Given the description of an element on the screen output the (x, y) to click on. 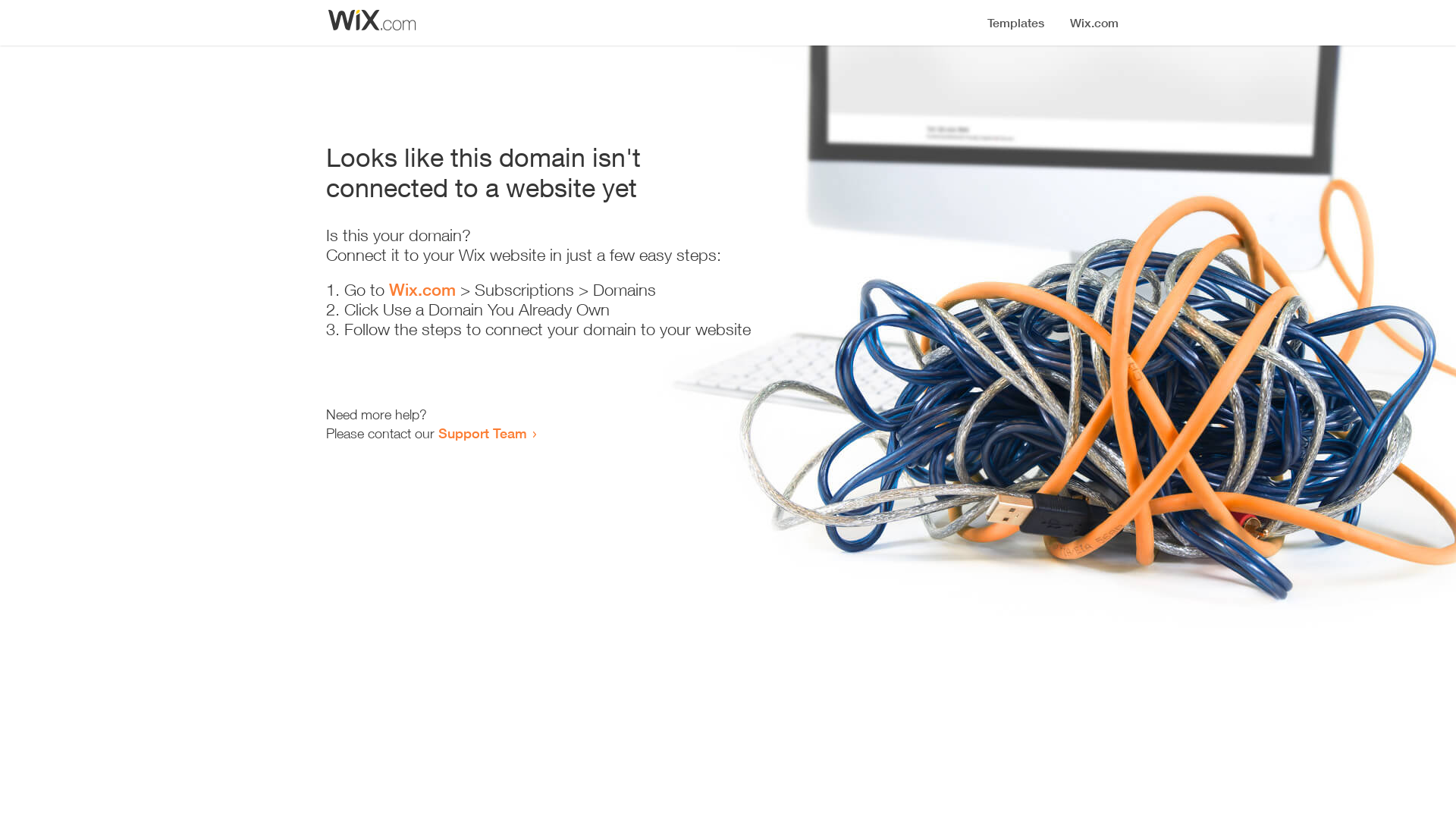
Wix.com Element type: text (422, 289)
Support Team Element type: text (482, 432)
